Given the description of an element on the screen output the (x, y) to click on. 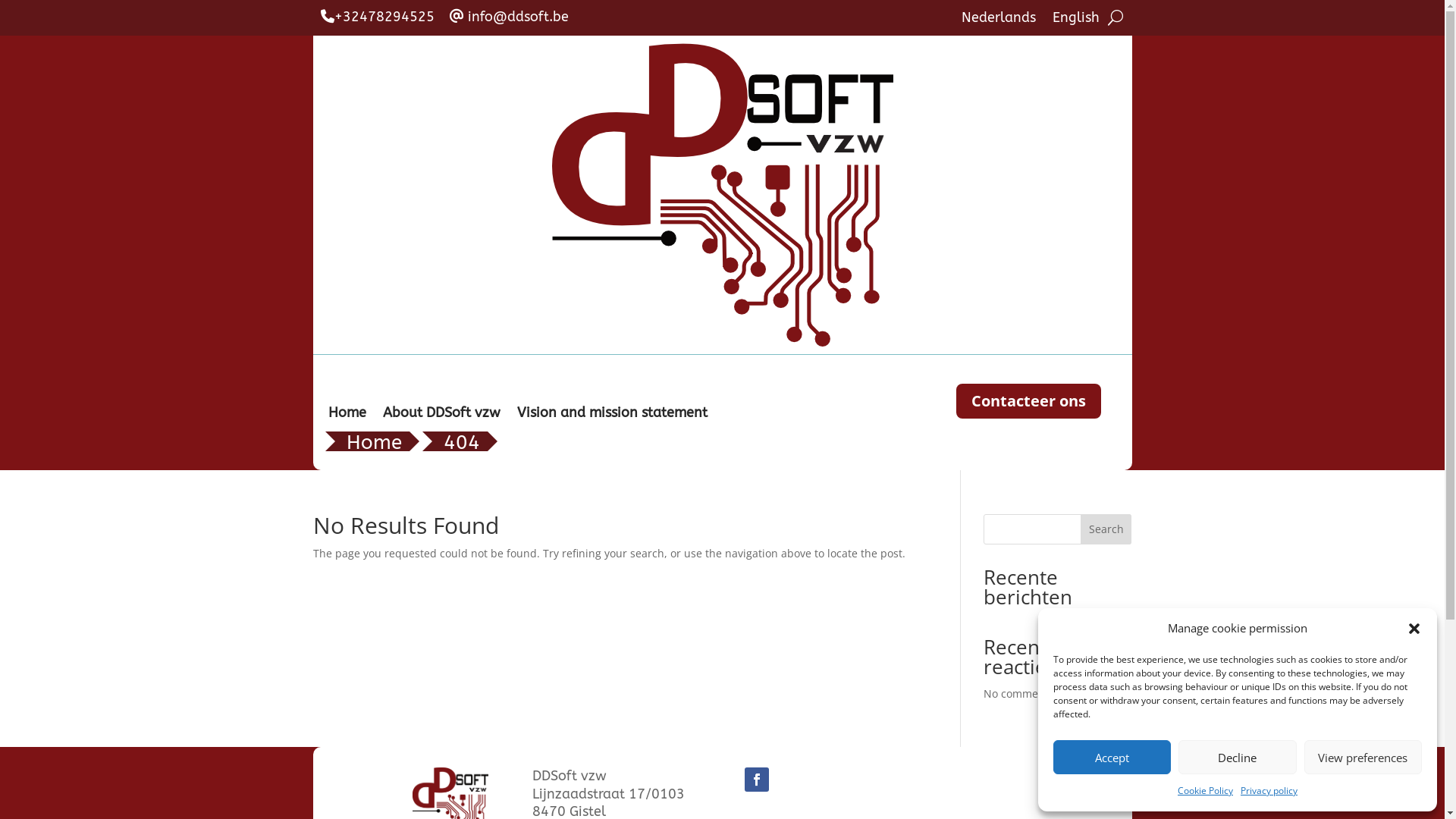
Nederlands Element type: text (998, 20)
Decline Element type: text (1236, 757)
Cookie Policy Element type: text (1205, 790)
Home Element type: text (346, 415)
Vision and mission statement Element type: text (612, 415)
About DDSoft vzw Element type: text (440, 415)
English Element type: text (1075, 20)
Home Element type: text (373, 441)
info@ddsoft.be Element type: text (507, 16)
search Element type: hover (1115, 17)
Search Element type: text (1106, 529)
Contacteer ons Element type: text (1028, 401)
Privacy policy Element type: text (1268, 790)
404 Element type: text (460, 441)
View preferences Element type: text (1362, 757)
+32478294525 Element type: text (376, 16)
Accept Element type: text (1111, 757)
Follow on Facebook Element type: hover (756, 779)
ddsoft-vzw-logo-450 Element type: hover (722, 194)
